Given the description of an element on the screen output the (x, y) to click on. 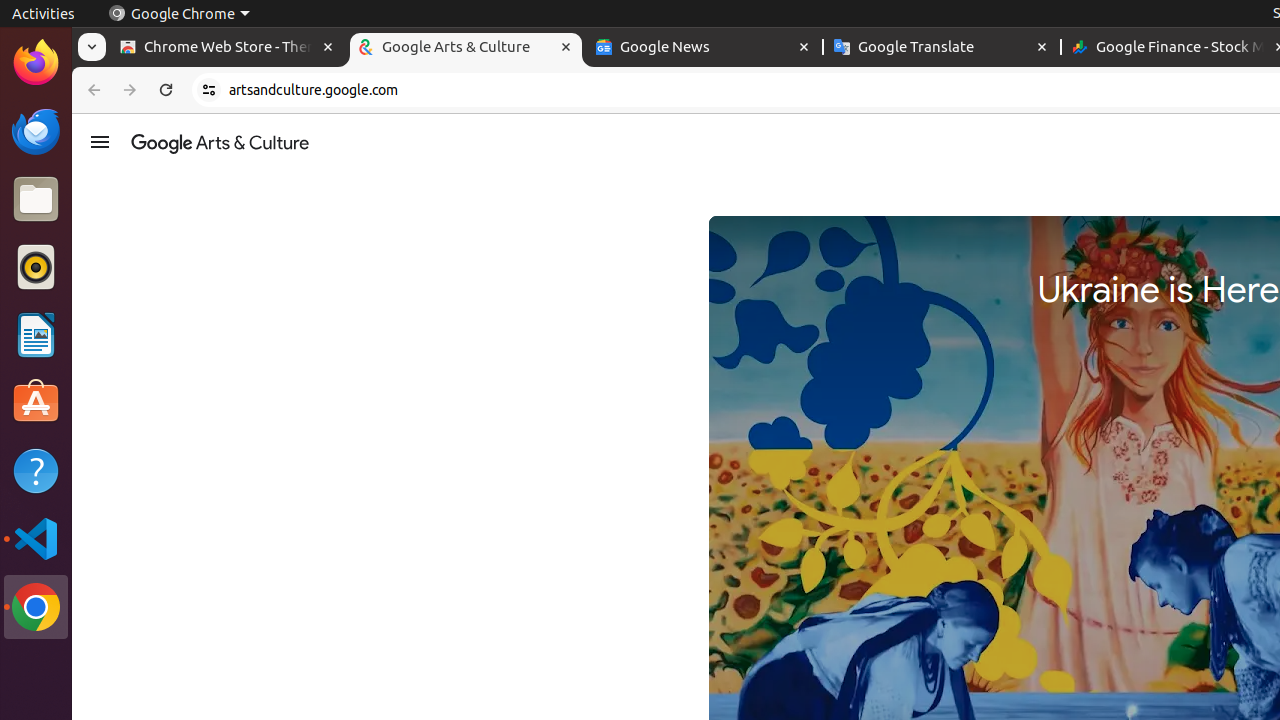
Google Translate - Memory usage - 64.0 MB Element type: page-tab (942, 47)
Google Arts & Culture Element type: link (220, 142)
Firefox Web Browser Element type: push-button (36, 63)
Visual Studio Code Element type: push-button (36, 538)
Google Chrome Element type: push-button (36, 607)
